Given the description of an element on the screen output the (x, y) to click on. 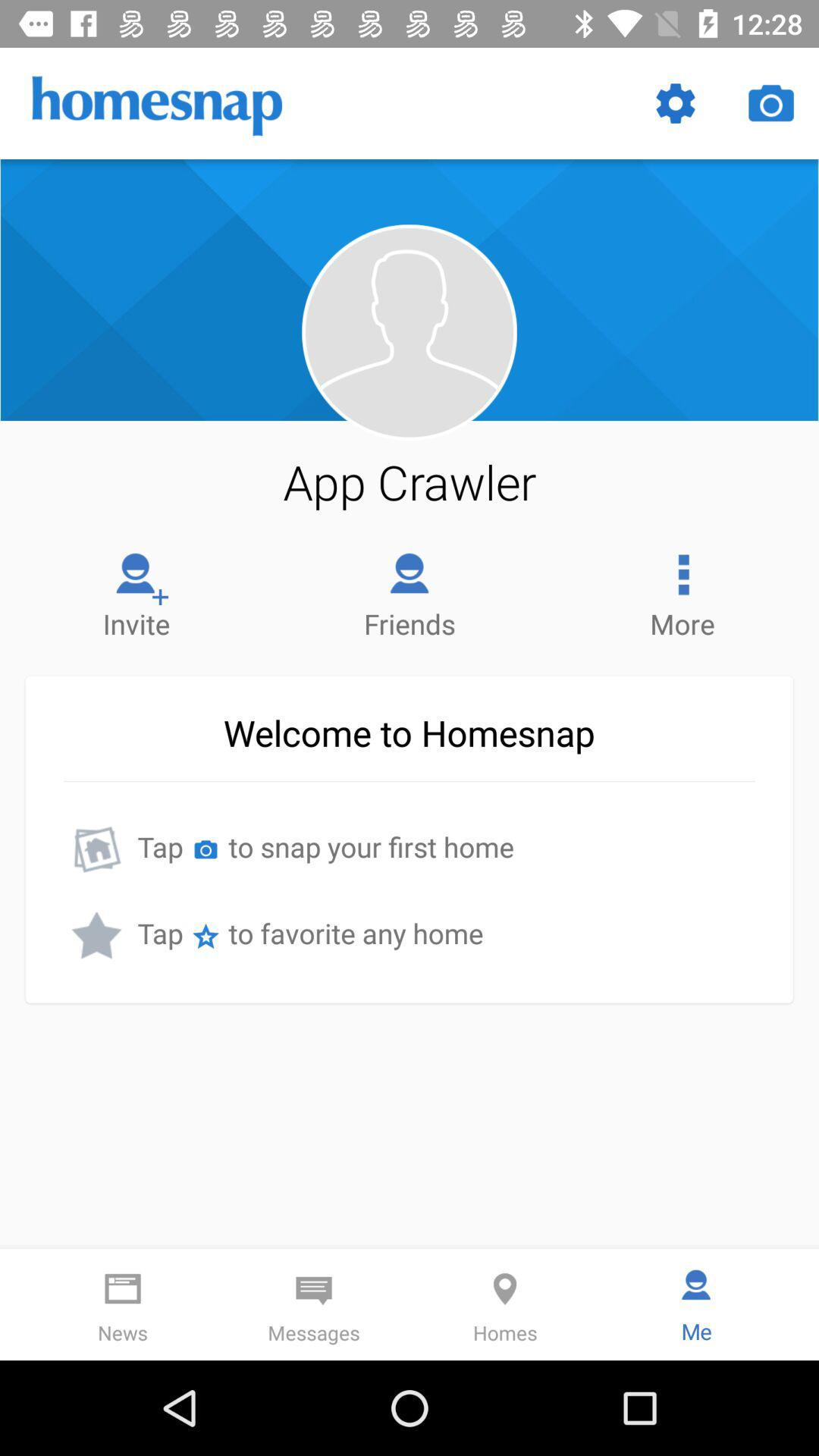
select item above welcome to homesnap icon (682, 591)
